Given the description of an element on the screen output the (x, y) to click on. 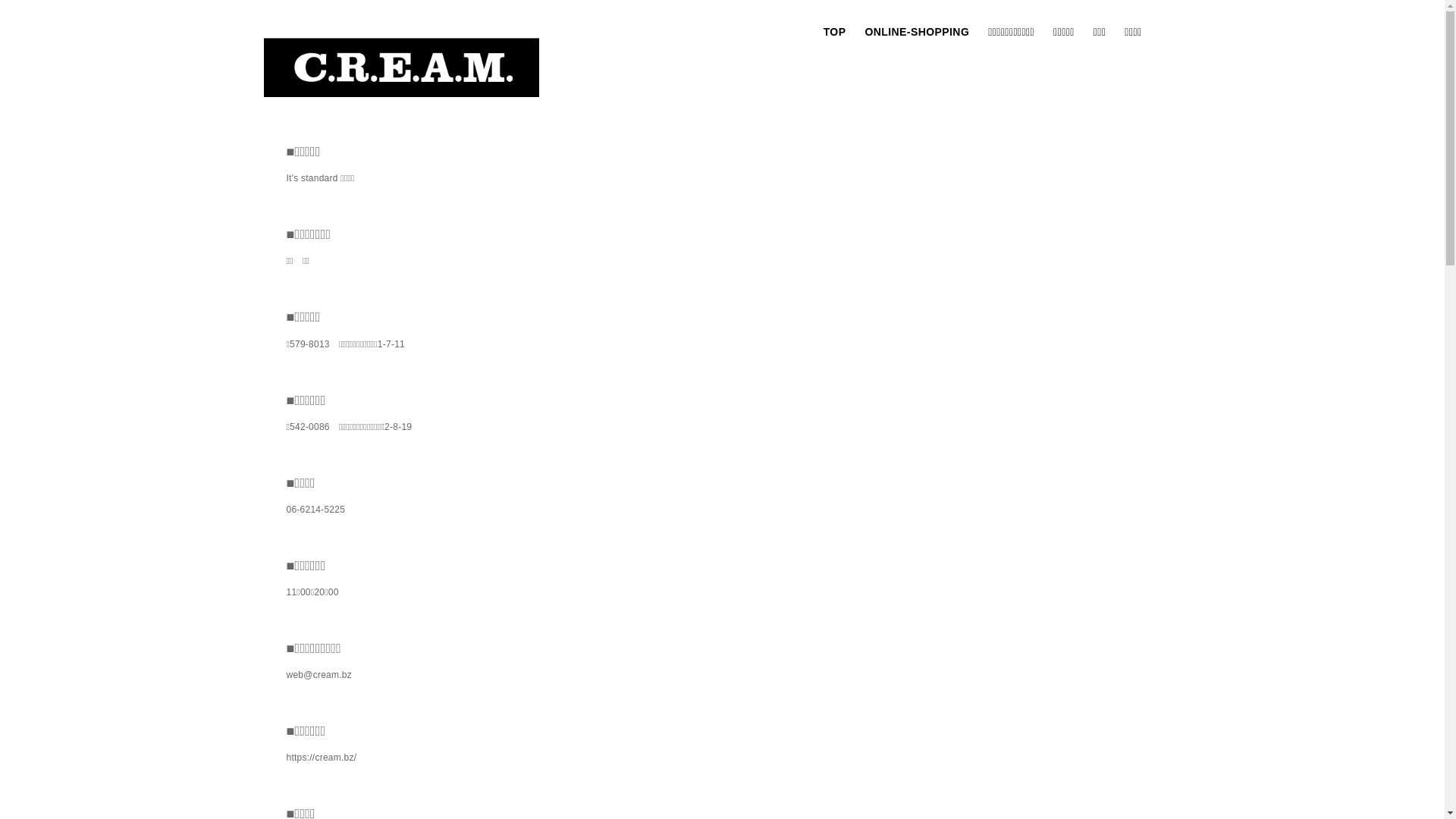
ONLINE-SHOPPING Element type: text (916, 31)
TOP Element type: text (834, 31)
